Given the description of an element on the screen output the (x, y) to click on. 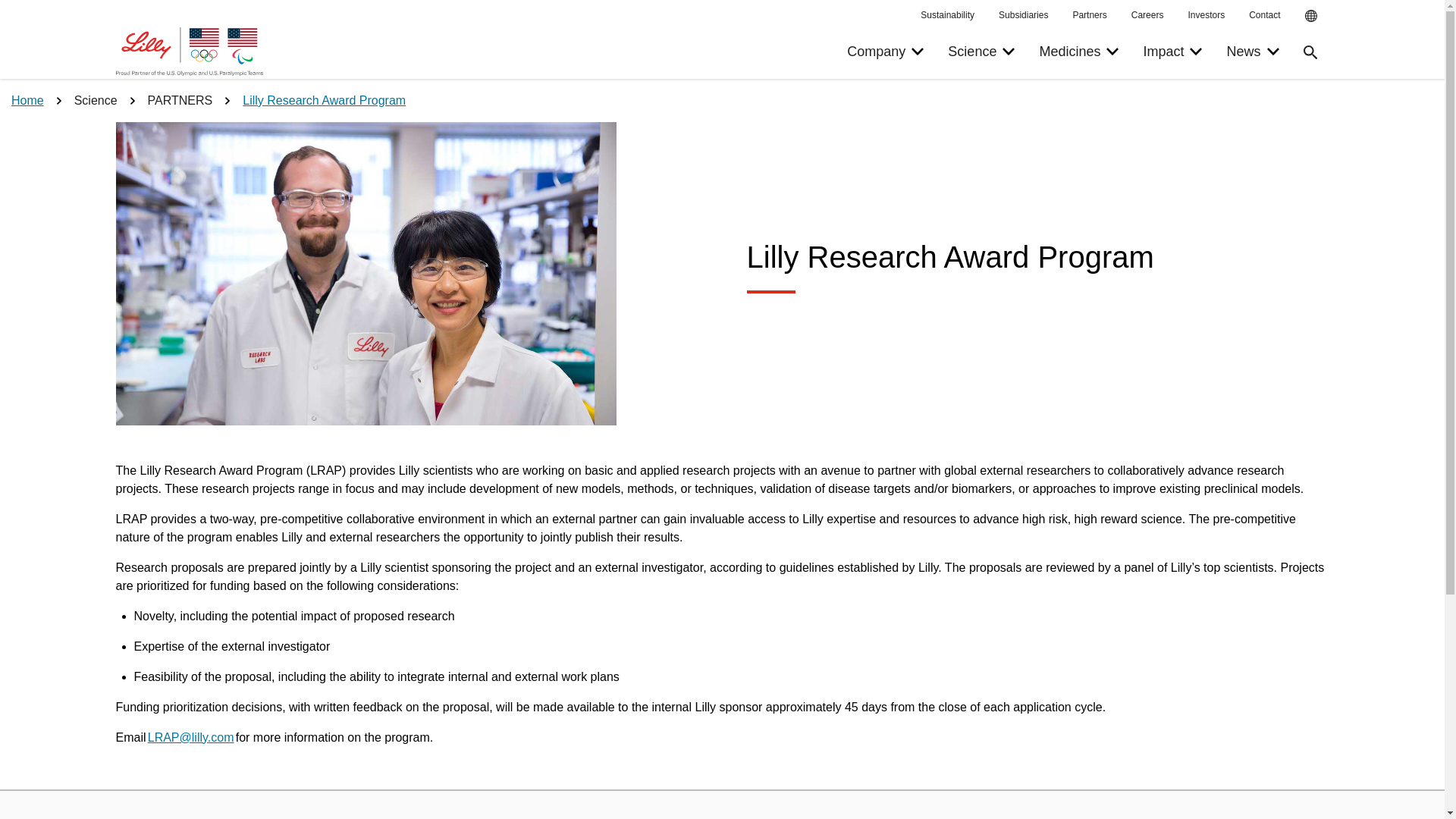
Lilly and Team USA Partnership Logo (189, 51)
Expand submenu (917, 51)
Globe (1080, 51)
Expand submenu (1310, 15)
Globe (1008, 51)
Search (1310, 15)
